Given the description of an element on the screen output the (x, y) to click on. 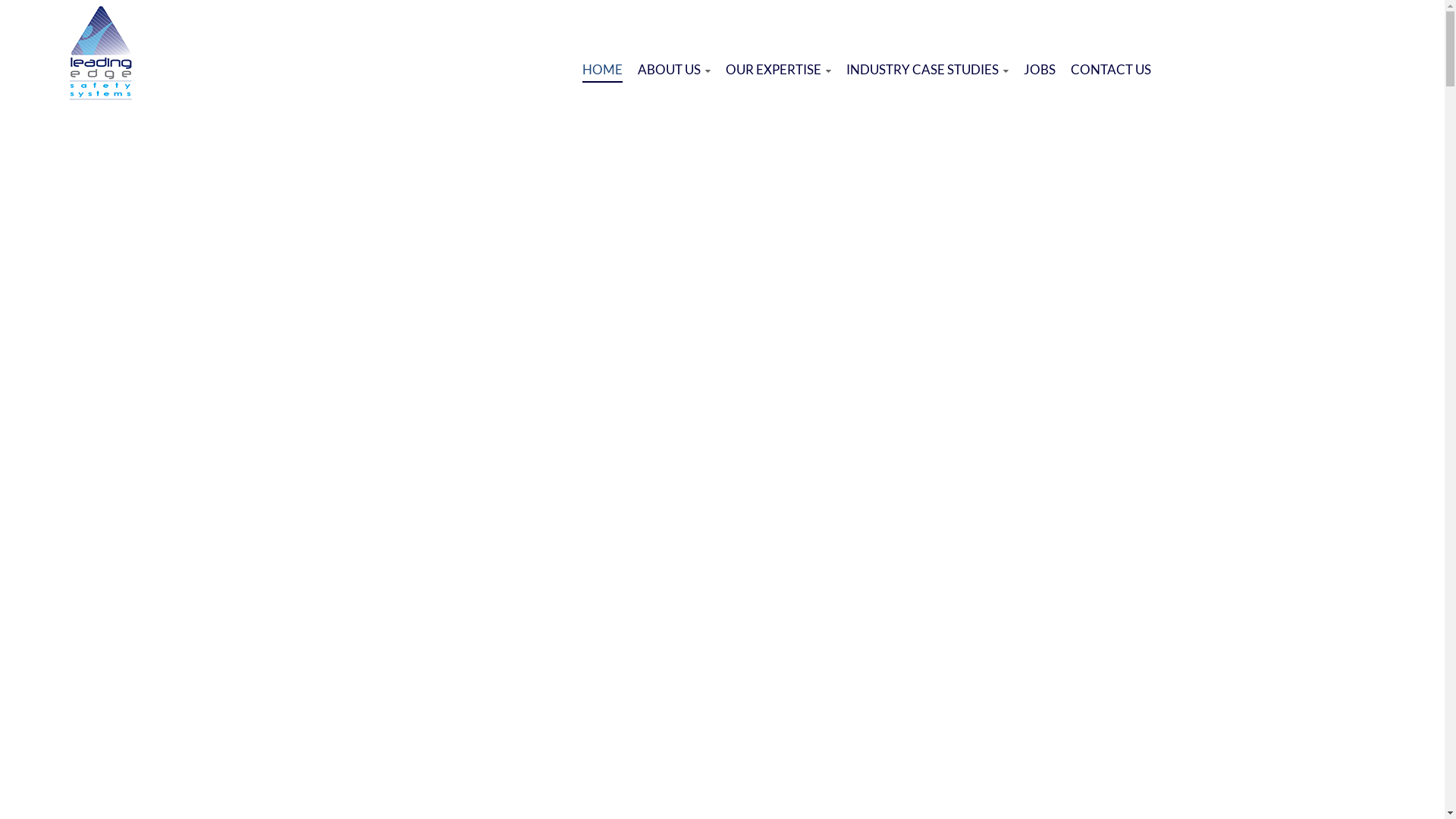
CONTACT US Element type: text (1110, 69)
OUR EXPERTISE Element type: text (777, 69)
ABOUT US Element type: text (673, 69)
JOBS Element type: text (1039, 69)
HOME Element type: text (602, 70)
INDUSTRY CASE STUDIES Element type: text (927, 69)
